Given the description of an element on the screen output the (x, y) to click on. 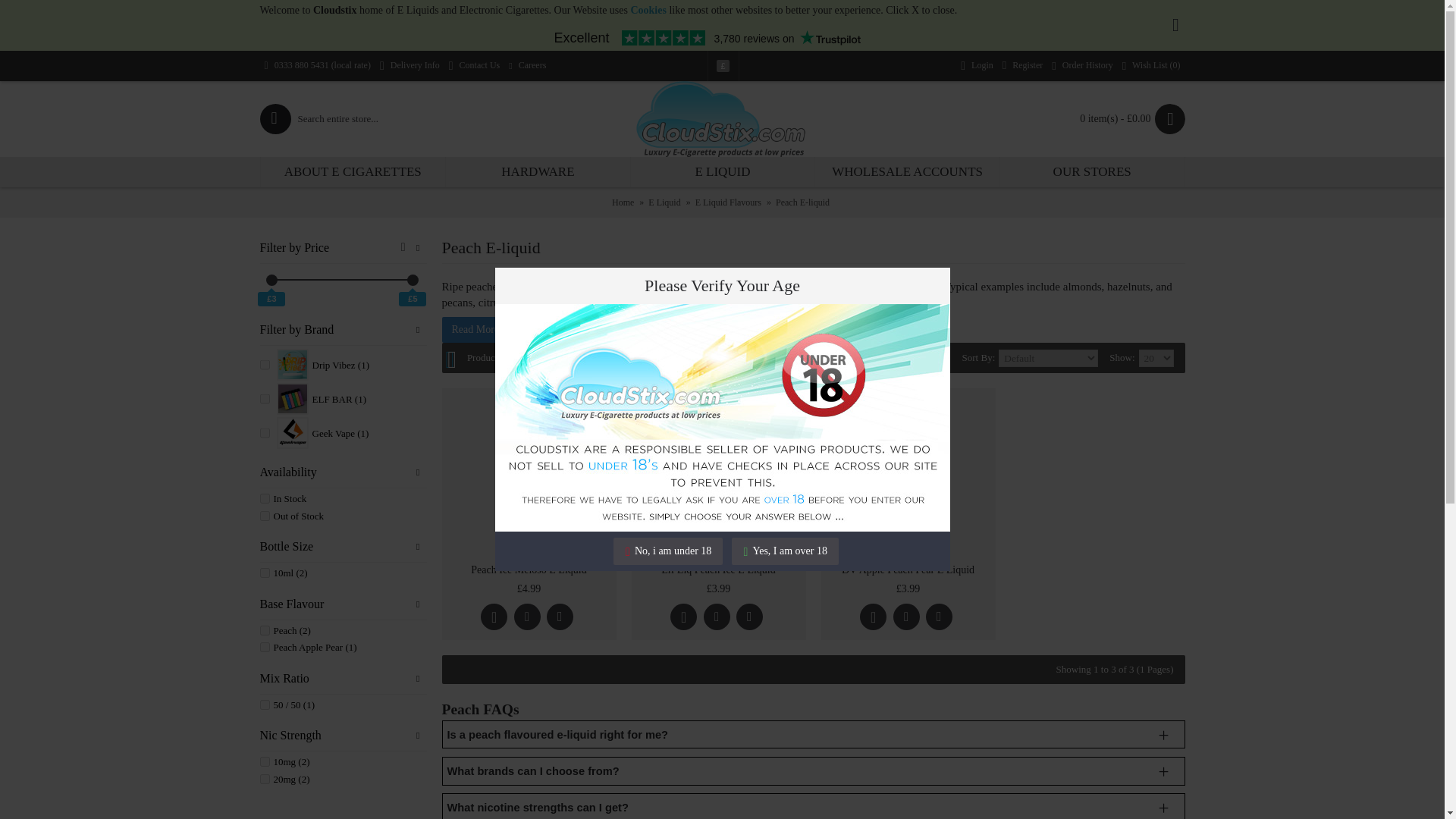
Yes, I am over 18 (785, 551)
Register (1021, 65)
2129 (264, 778)
Elf Liq Peach Ice E Liquid (718, 474)
Peach Ice Meloso E Liquid (528, 474)
1 (264, 498)
9 (264, 432)
HARDWARE (537, 172)
No, i am under 18 (667, 551)
Delivery Info (409, 65)
2128 (264, 761)
Peach (264, 630)
10ml (264, 573)
Login (976, 65)
74 (264, 398)
